Given the description of an element on the screen output the (x, y) to click on. 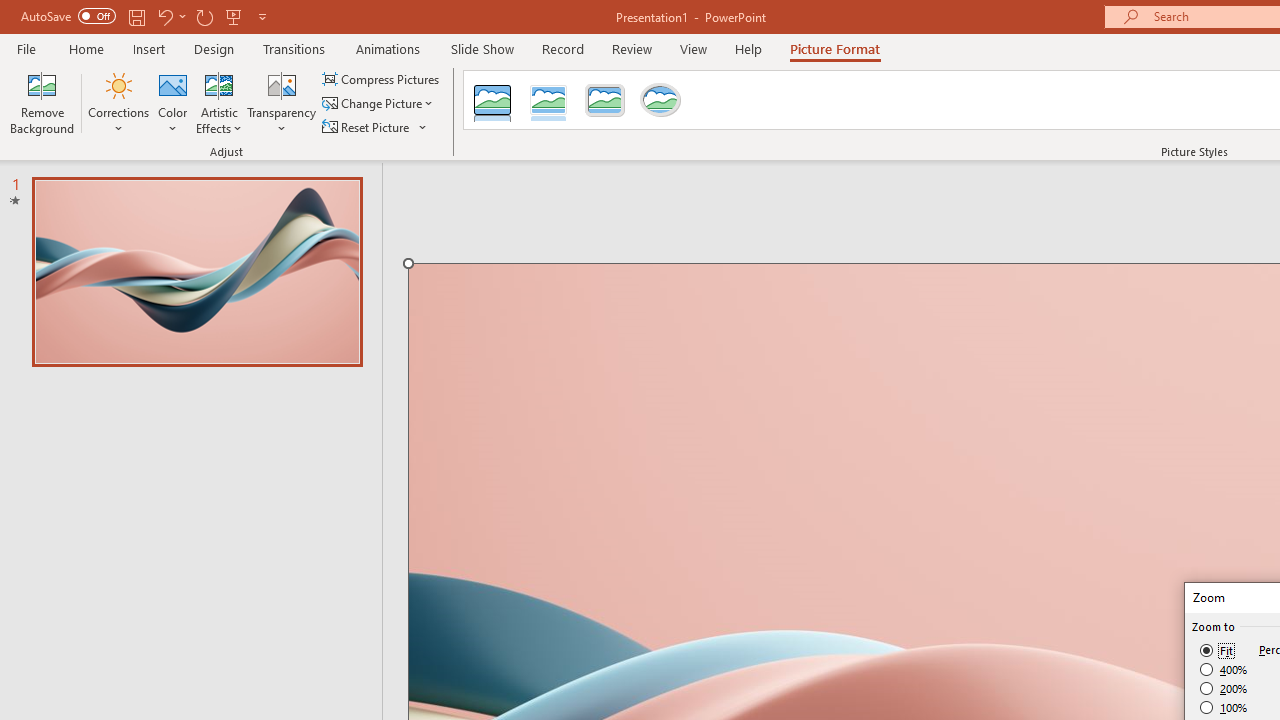
Artistic Effects (219, 102)
Reset Picture (375, 126)
Color (173, 102)
Change Picture (379, 103)
200% (1224, 688)
Picture Format (834, 48)
Reflected Bevel, Black (492, 100)
